Given the description of an element on the screen output the (x, y) to click on. 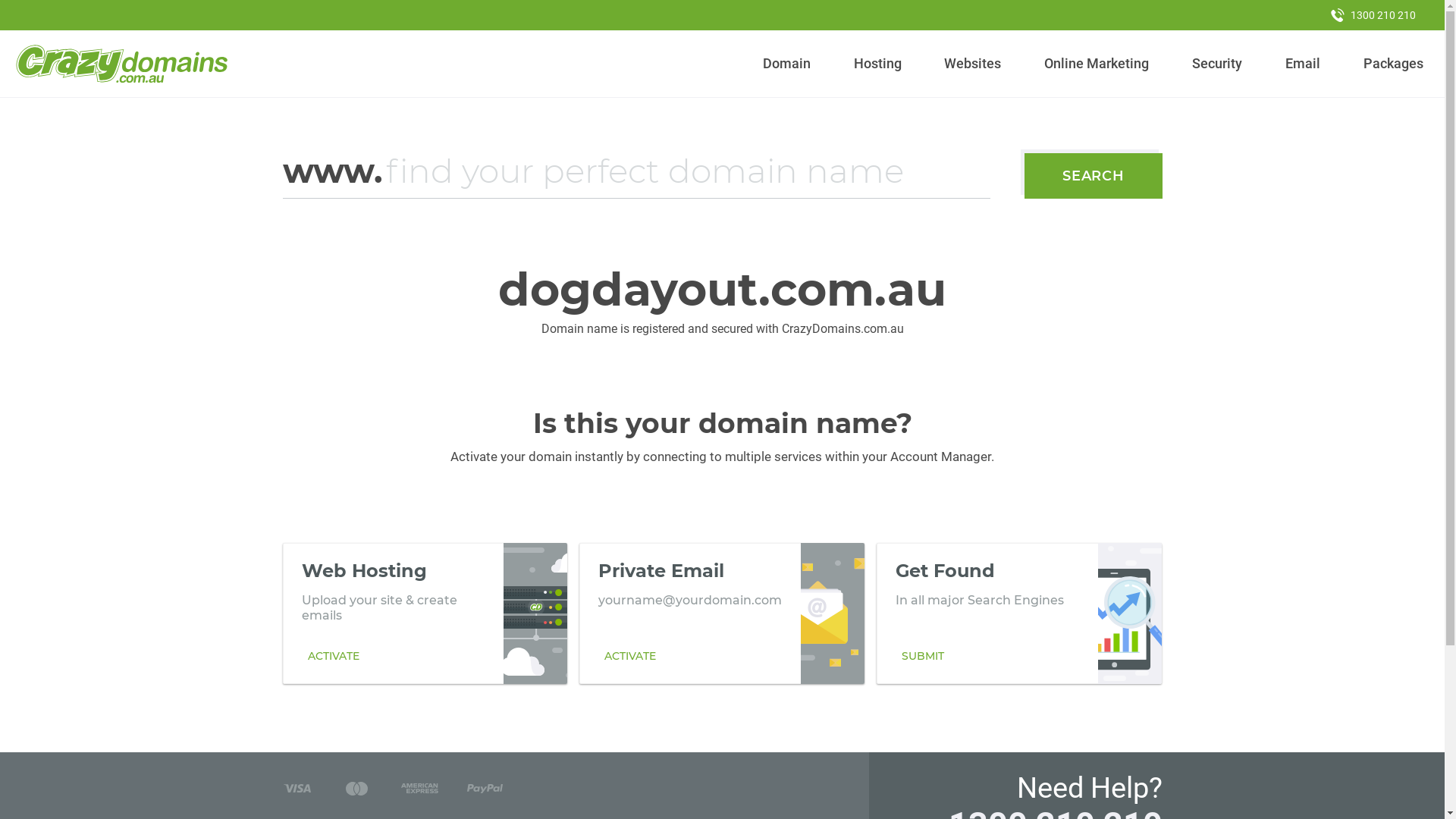
Packages Element type: text (1392, 63)
SEARCH Element type: text (1092, 175)
1300 210 210 Element type: text (1373, 15)
Hosting Element type: text (877, 63)
Get Found
In all major Search Engines
SUBMIT Element type: text (1018, 613)
Online Marketing Element type: text (1096, 63)
Websites Element type: text (972, 63)
Private Email
yourname@yourdomain.com
ACTIVATE Element type: text (721, 613)
Security Element type: text (1217, 63)
Web Hosting
Upload your site & create emails
ACTIVATE Element type: text (424, 613)
Email Element type: text (1302, 63)
Domain Element type: text (786, 63)
